Given the description of an element on the screen output the (x, y) to click on. 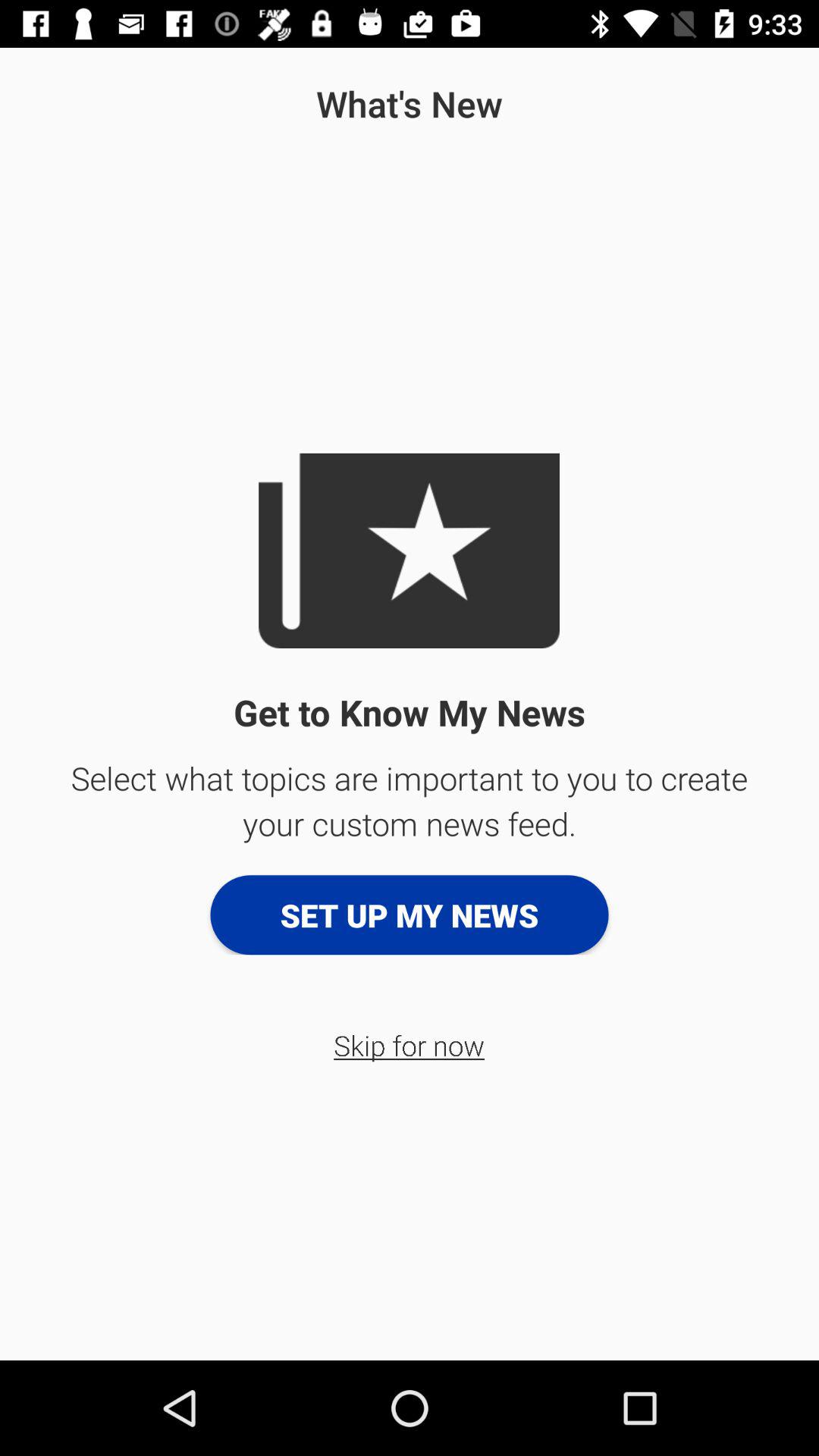
choose the app below select what topics app (409, 914)
